Given the description of an element on the screen output the (x, y) to click on. 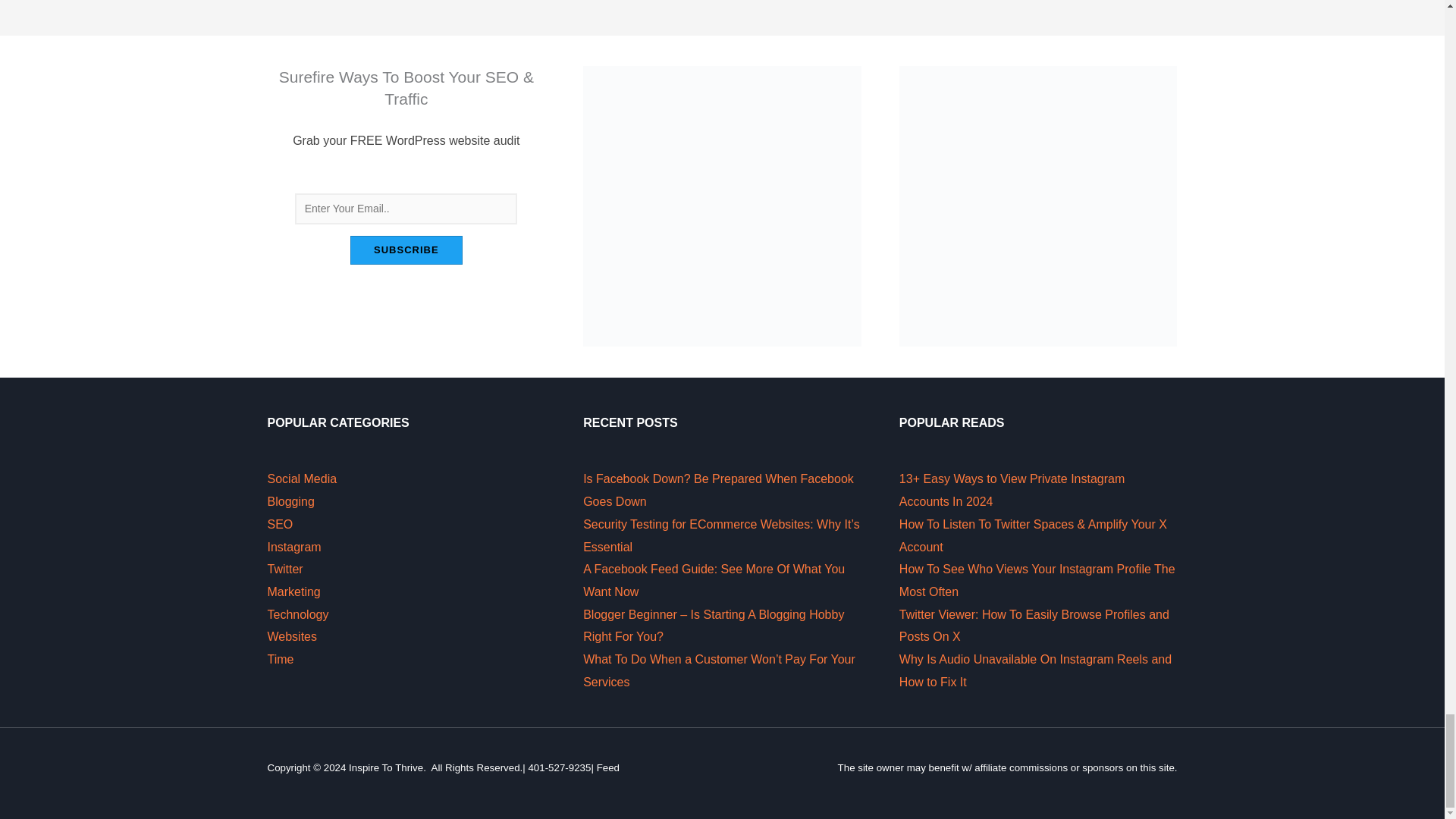
Subscribe (406, 249)
